Given the description of an element on the screen output the (x, y) to click on. 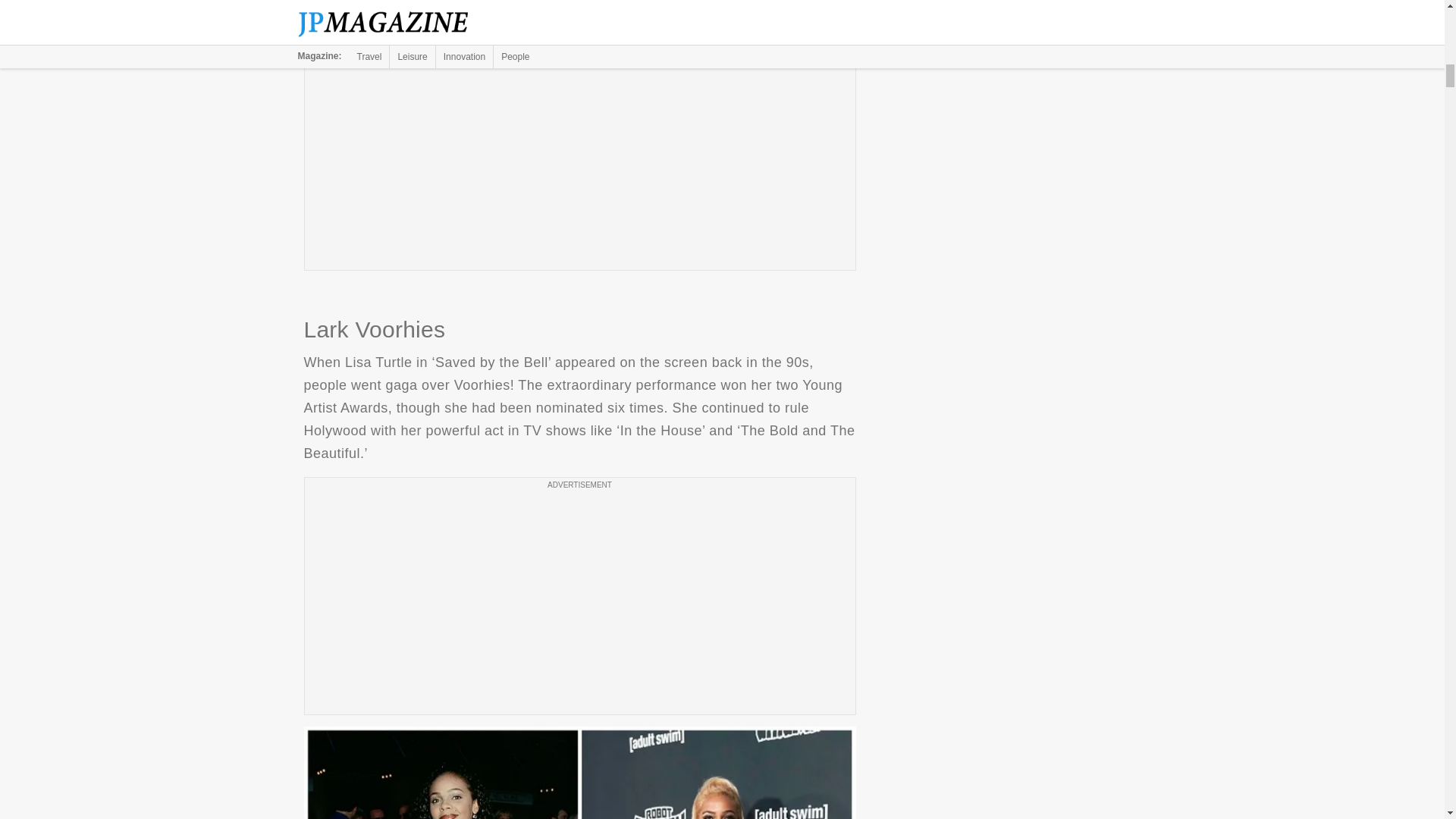
Lark Voorhies (579, 772)
